Given the description of an element on the screen output the (x, y) to click on. 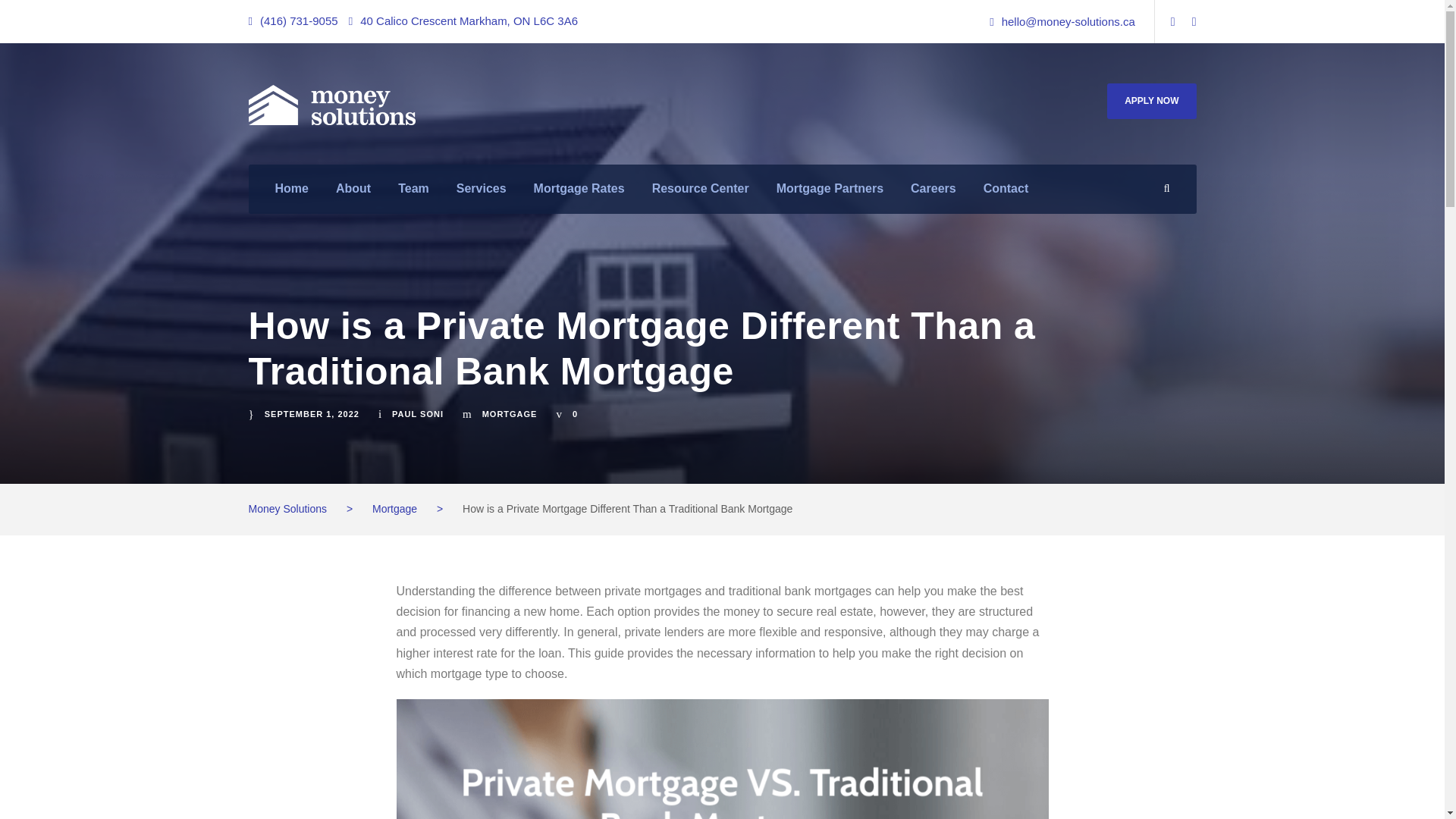
Go to the Mortgage Category archives. (394, 508)
Home (291, 195)
About (353, 195)
Go to Money Solutions. (287, 508)
APPLY NOW (1150, 100)
Services (481, 195)
Posts by Paul Soni (417, 413)
